Given the description of an element on the screen output the (x, y) to click on. 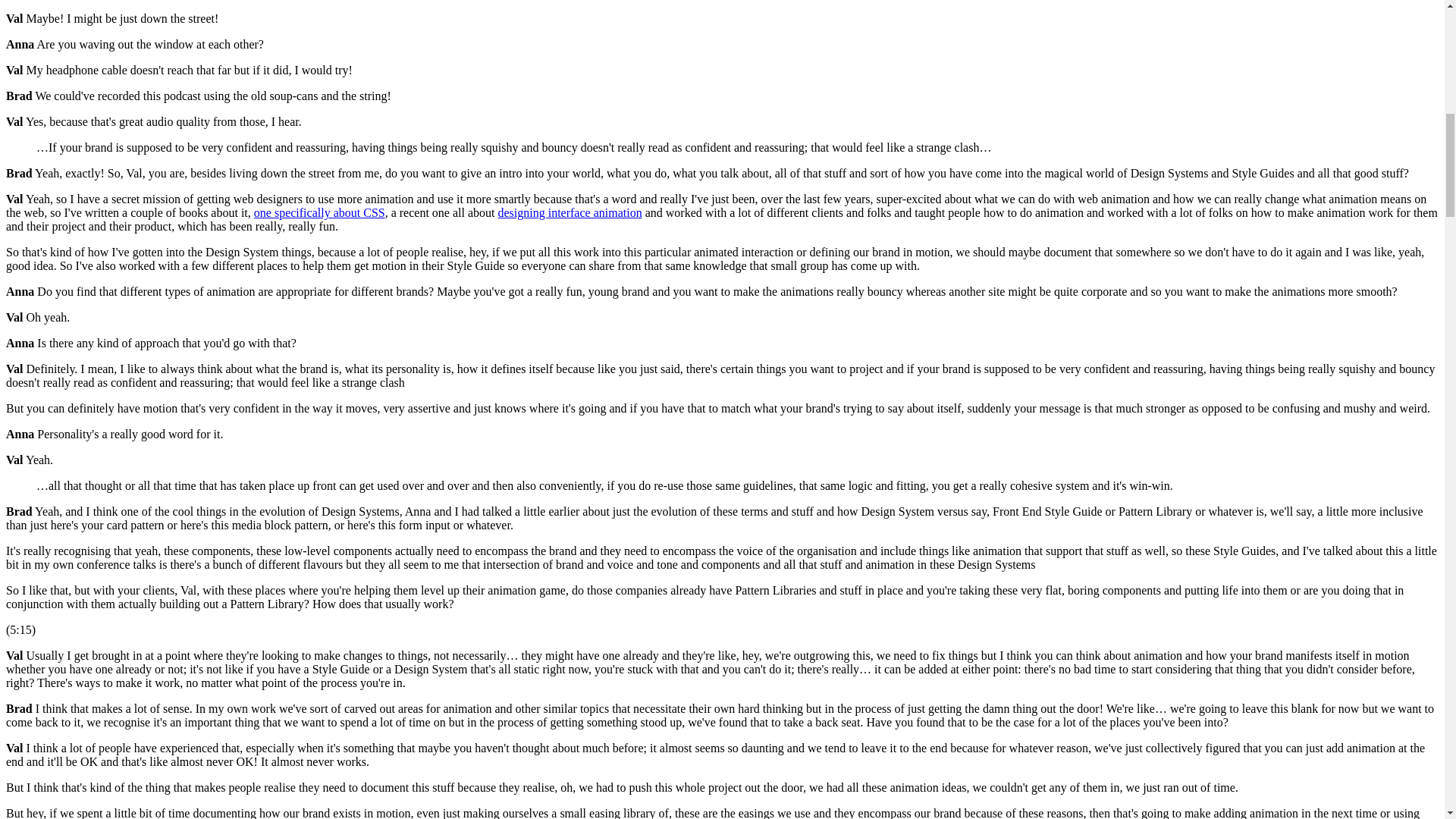
designing interface animation (569, 212)
one specifically about CSS (319, 212)
